Given the description of an element on the screen output the (x, y) to click on. 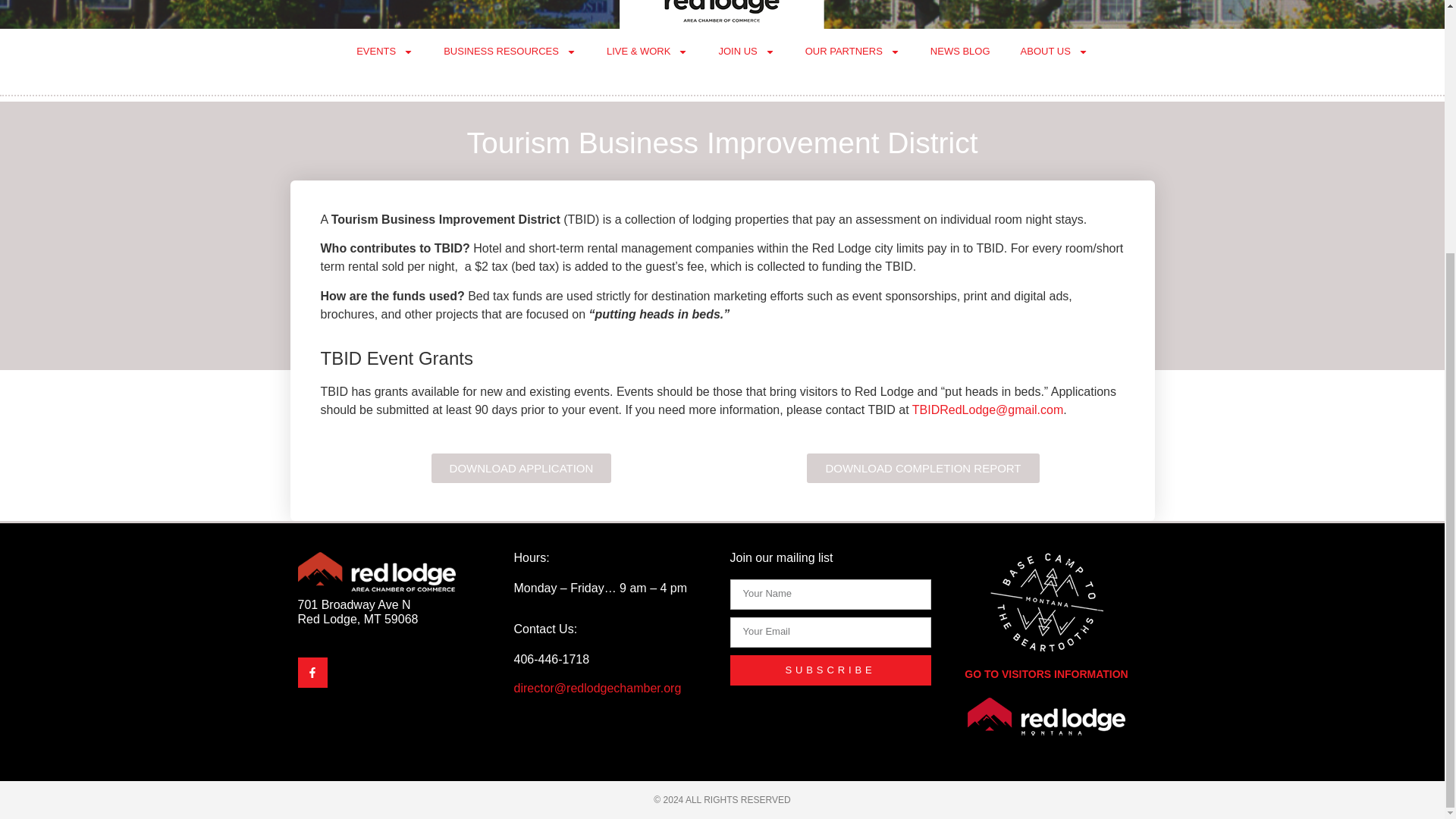
EVENTS (384, 51)
BUSINESS RESOURCES (509, 51)
ABOUT US (1054, 51)
JOIN US (746, 51)
NEWS BLOG (960, 51)
OUR PARTNERS (852, 51)
redloge-com-logo (1046, 716)
